Given the description of an element on the screen output the (x, y) to click on. 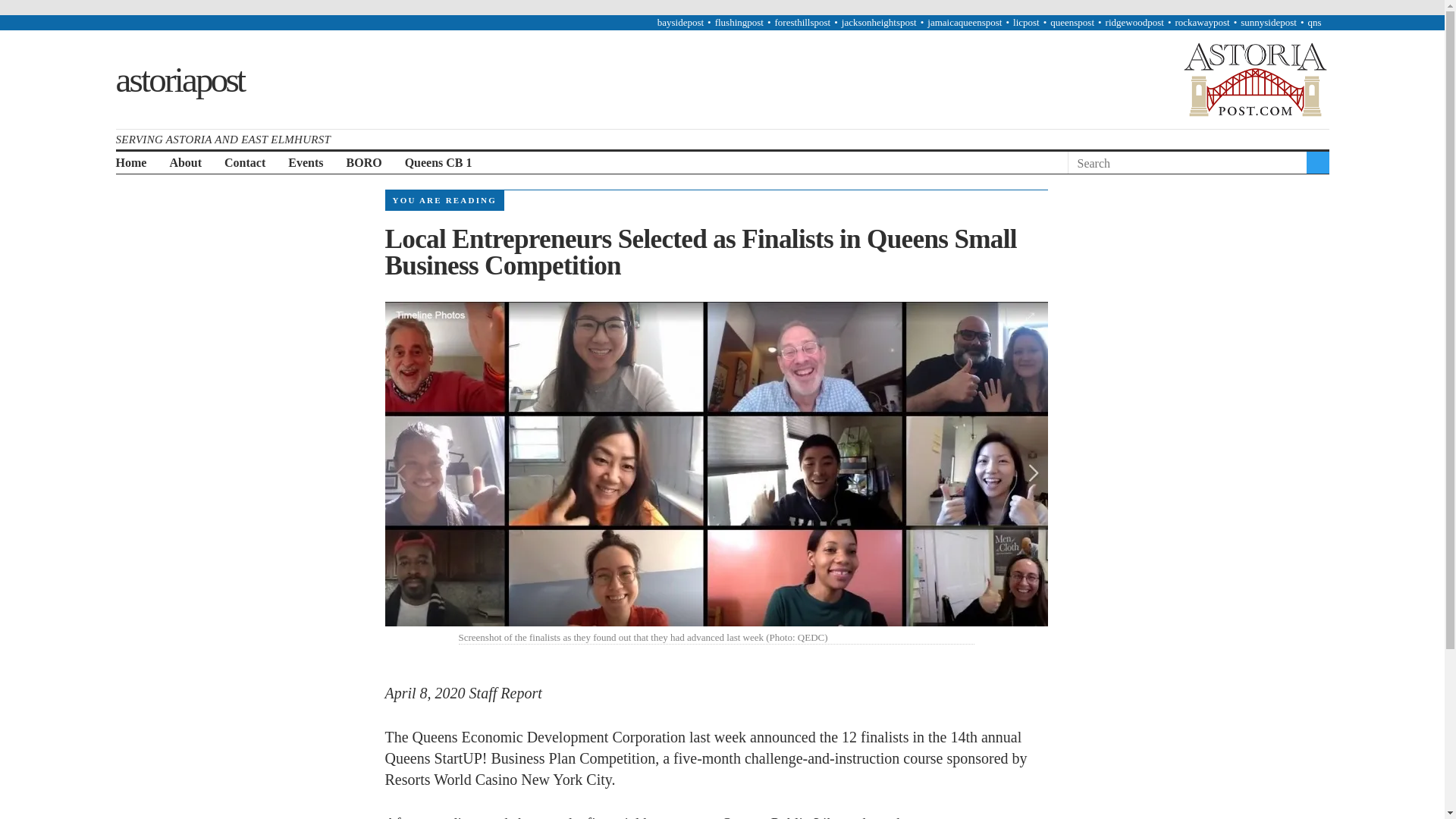
astoriapost (179, 78)
jamaicaqueenspost (964, 21)
baysidepost (680, 21)
flushingpost (738, 21)
ridgewoodpost (1134, 21)
sunnysidepost (1268, 21)
Contact (244, 163)
licpost (1026, 21)
jacksonheightspost (879, 21)
Queens CB 1 (437, 163)
